Given the description of an element on the screen output the (x, y) to click on. 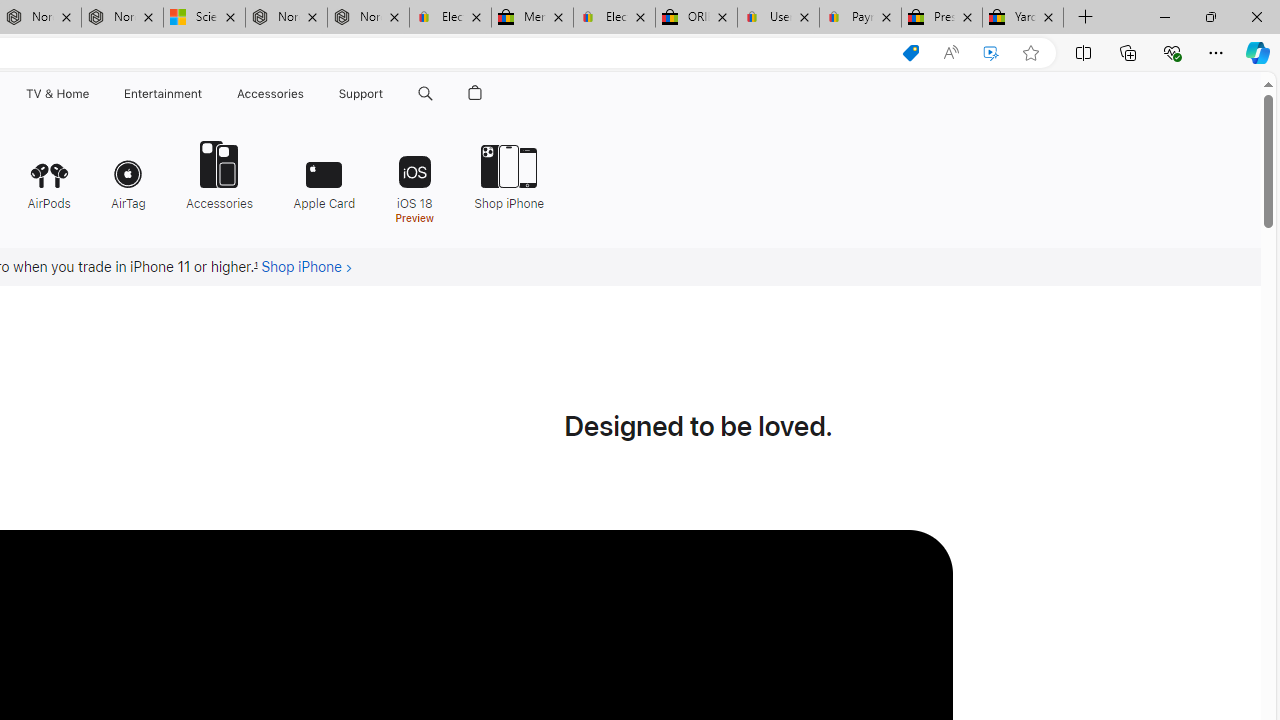
TV and Home (56, 93)
Support menu (387, 93)
User Privacy Notice | eBay (778, 17)
TV and Home menu (92, 93)
Yard, Garden & Outdoor Living (1023, 17)
Class: globalnav-item globalnav-search shift-0-1 (425, 93)
TV & Home (56, 93)
AirTag (128, 173)
Accessories menu (306, 93)
AirTag (128, 173)
Search apple.com (425, 93)
